Given the description of an element on the screen output the (x, y) to click on. 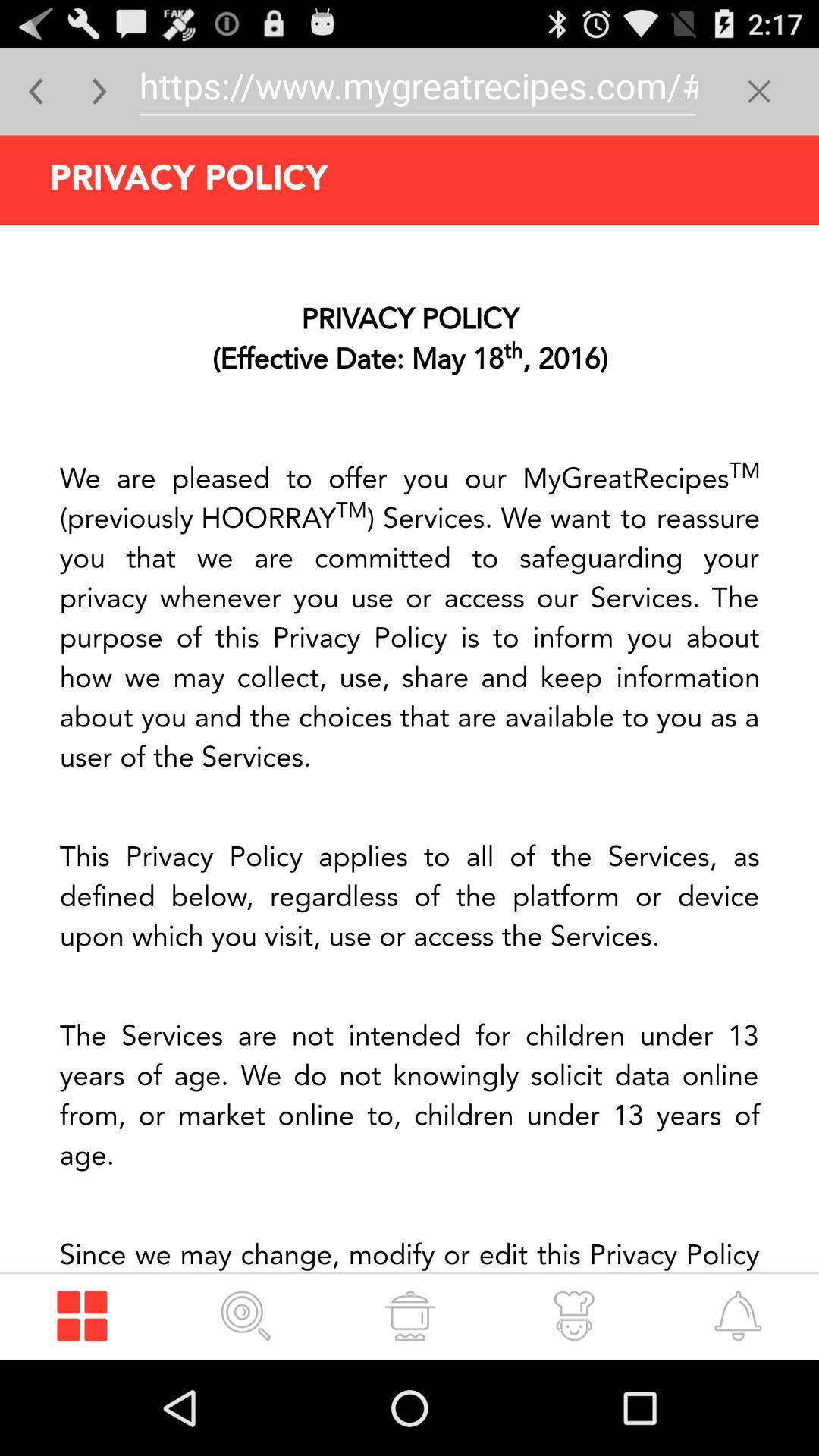
close button (759, 91)
